Given the description of an element on the screen output the (x, y) to click on. 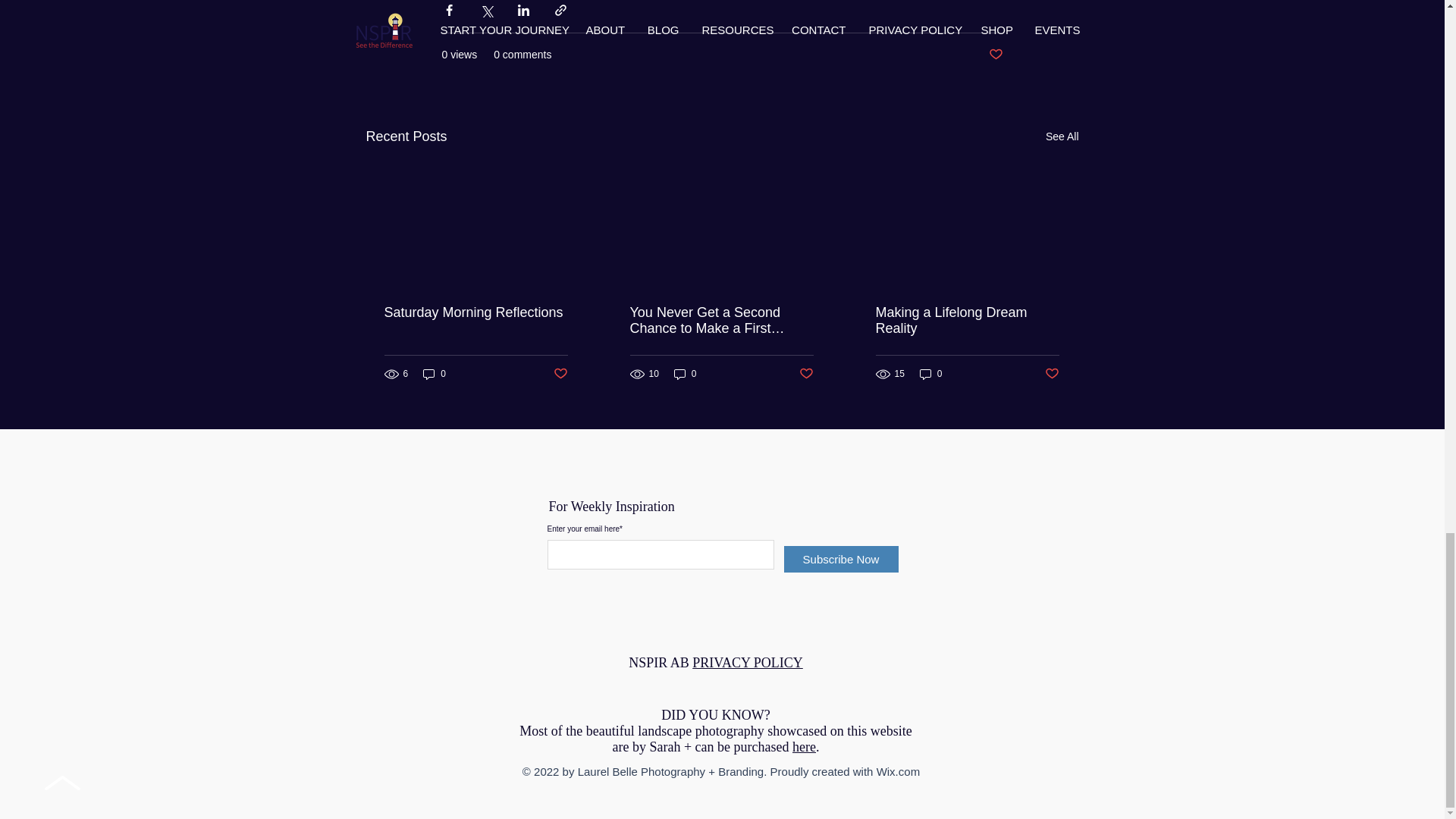
Wix.com (898, 771)
0 (685, 373)
PRIVACY POLICY (748, 662)
Post not marked as liked (806, 374)
0 (930, 373)
See All (1061, 137)
Post not marked as liked (995, 54)
You Never Get a Second Chance to Make a First Impression (720, 320)
Post not marked as liked (1052, 374)
Post not marked as liked (560, 374)
Making a Lifelong Dream Reality (966, 320)
0 (434, 373)
Saturday Morning Reflections (475, 312)
Subscribe Now (841, 559)
here (803, 746)
